Given the description of an element on the screen output the (x, y) to click on. 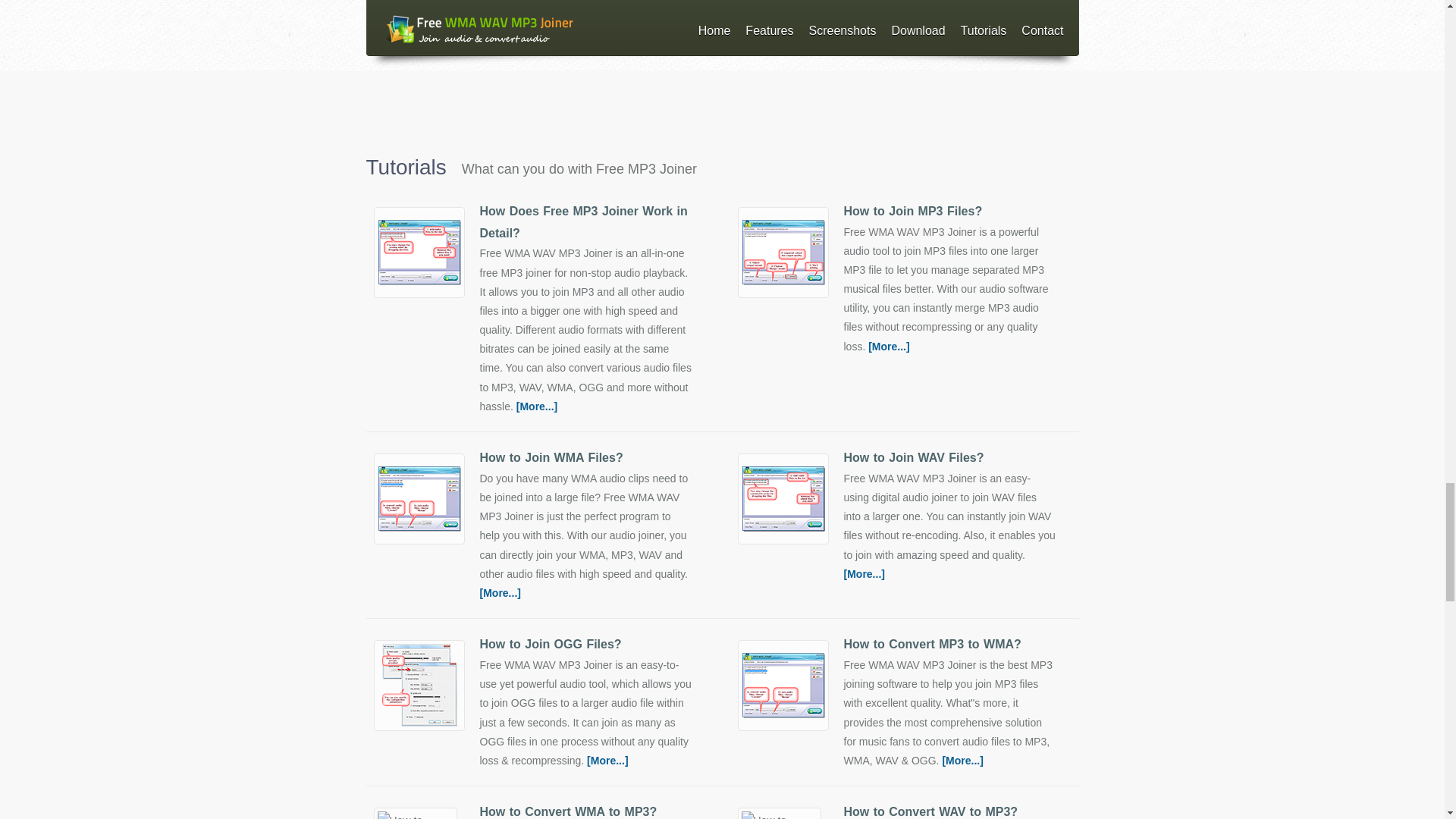
How Does Free MP3 Joiner Work in Detail? (583, 221)
How to Convert MP3 to WMA? (931, 644)
How to Join OGG Files? (550, 644)
How to Join WAV Files? (913, 457)
How to Join WMA Files? (551, 457)
How to Join MP3 Files? (912, 210)
